Given the description of an element on the screen output the (x, y) to click on. 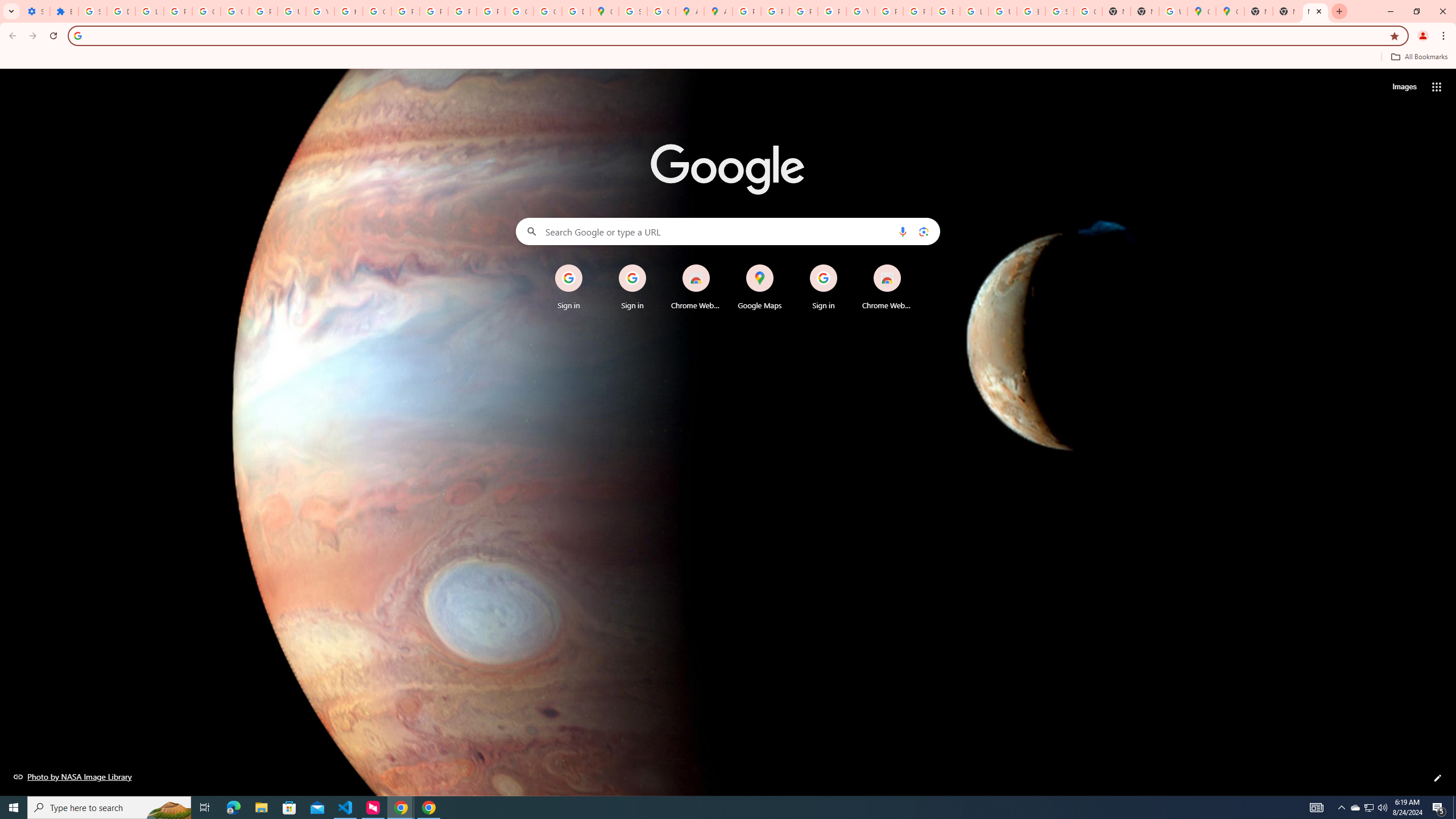
Privacy Help Center - Policies Help (405, 11)
Search tabs (10, 11)
Policy Accountability and Transparency - Transparency Center (746, 11)
Privacy Help Center - Policies Help (803, 11)
New Tab (1315, 11)
Chrome (1445, 35)
Search by voice (902, 230)
Delete photos & videos - Computer - Google Photos Help (120, 11)
Google Maps (604, 11)
Google apps (1436, 86)
